Given the description of an element on the screen output the (x, y) to click on. 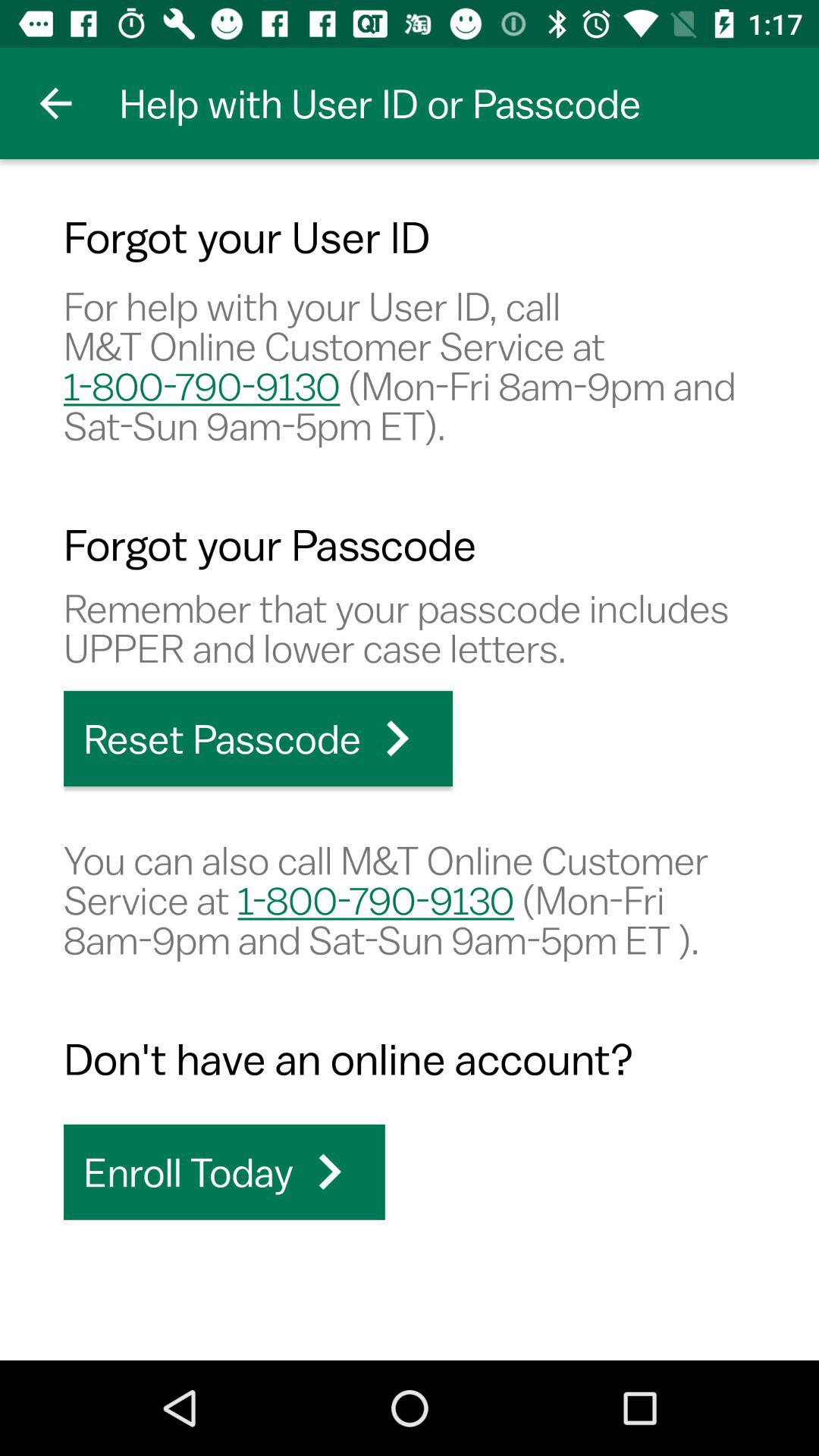
launch the item below don t have item (224, 1171)
